Given the description of an element on the screen output the (x, y) to click on. 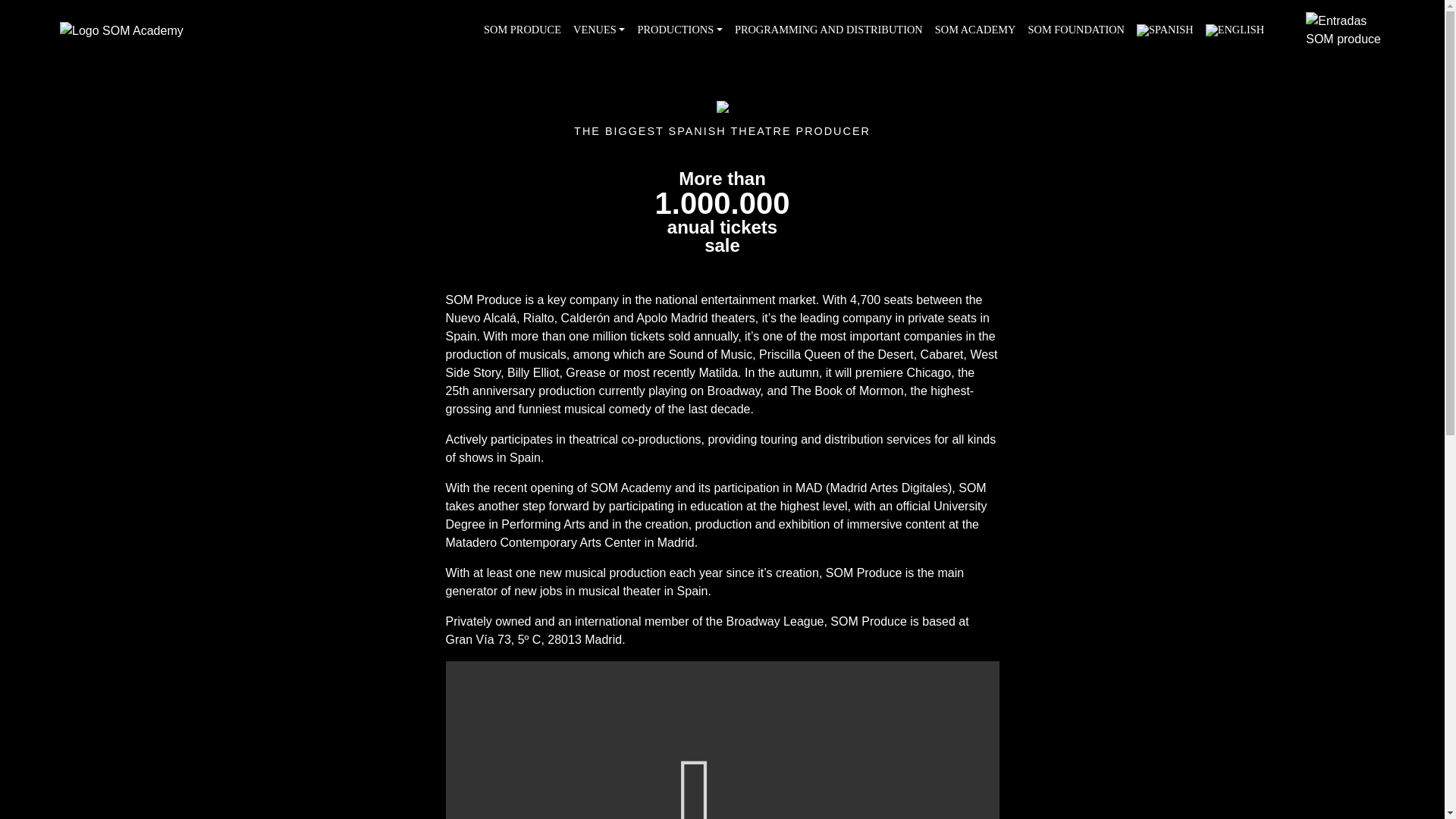
SOM ACADEMY (975, 30)
SOM PRODUCE (522, 30)
VENUES (598, 30)
Productions (679, 30)
PROGRAMMING AND DISTRIBUTION (828, 30)
Venues (598, 30)
PRODUCTIONS (679, 30)
Programming and Distribution (828, 30)
SOM Produce (522, 30)
SOM FOUNDATION (1076, 30)
